Given the description of an element on the screen output the (x, y) to click on. 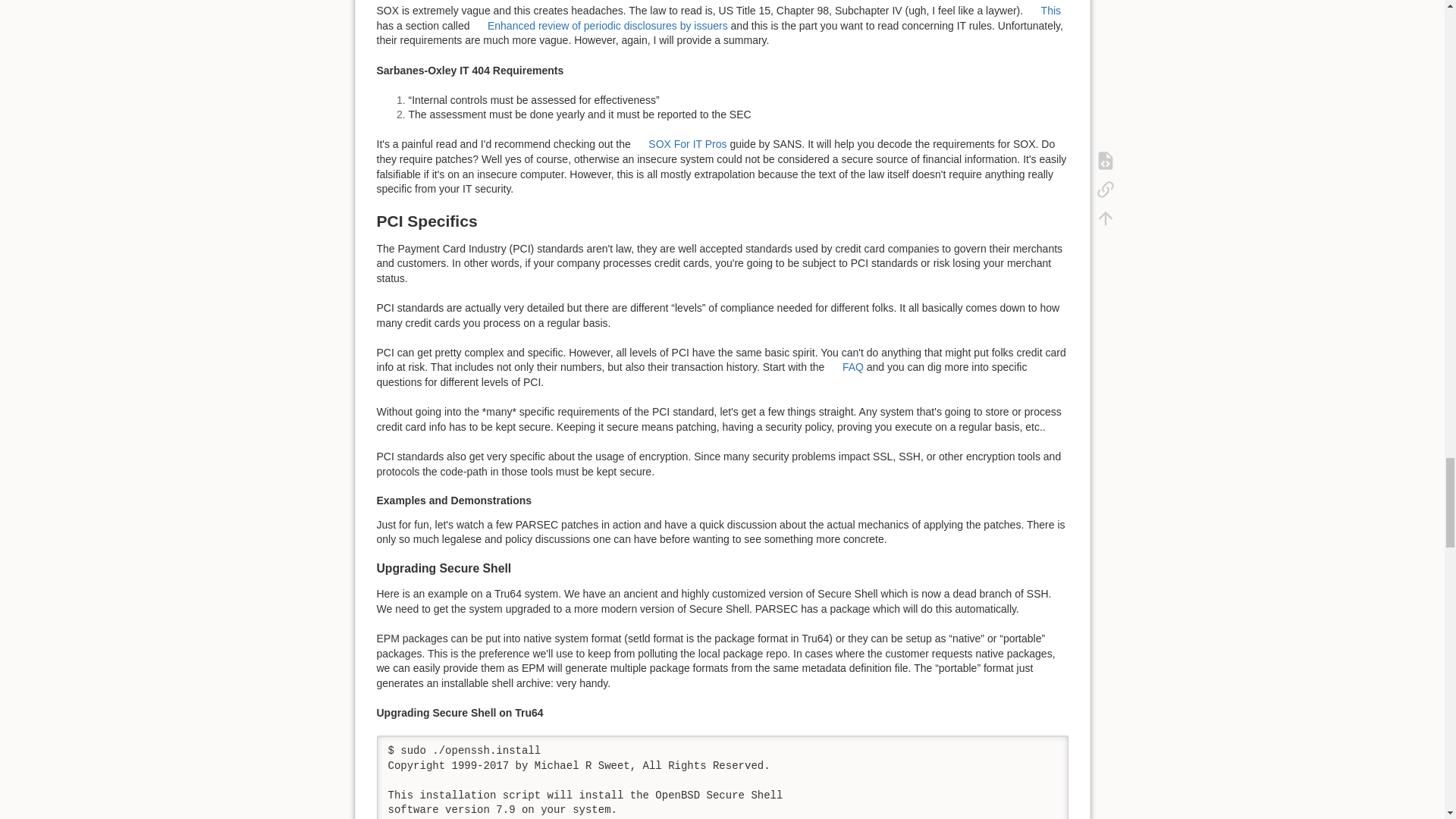
This (1043, 10)
Enhanced review of periodic disclosures by issuers (598, 25)
SOX For IT Pros (679, 143)
FAQ (845, 367)
